Given the description of an element on the screen output the (x, y) to click on. 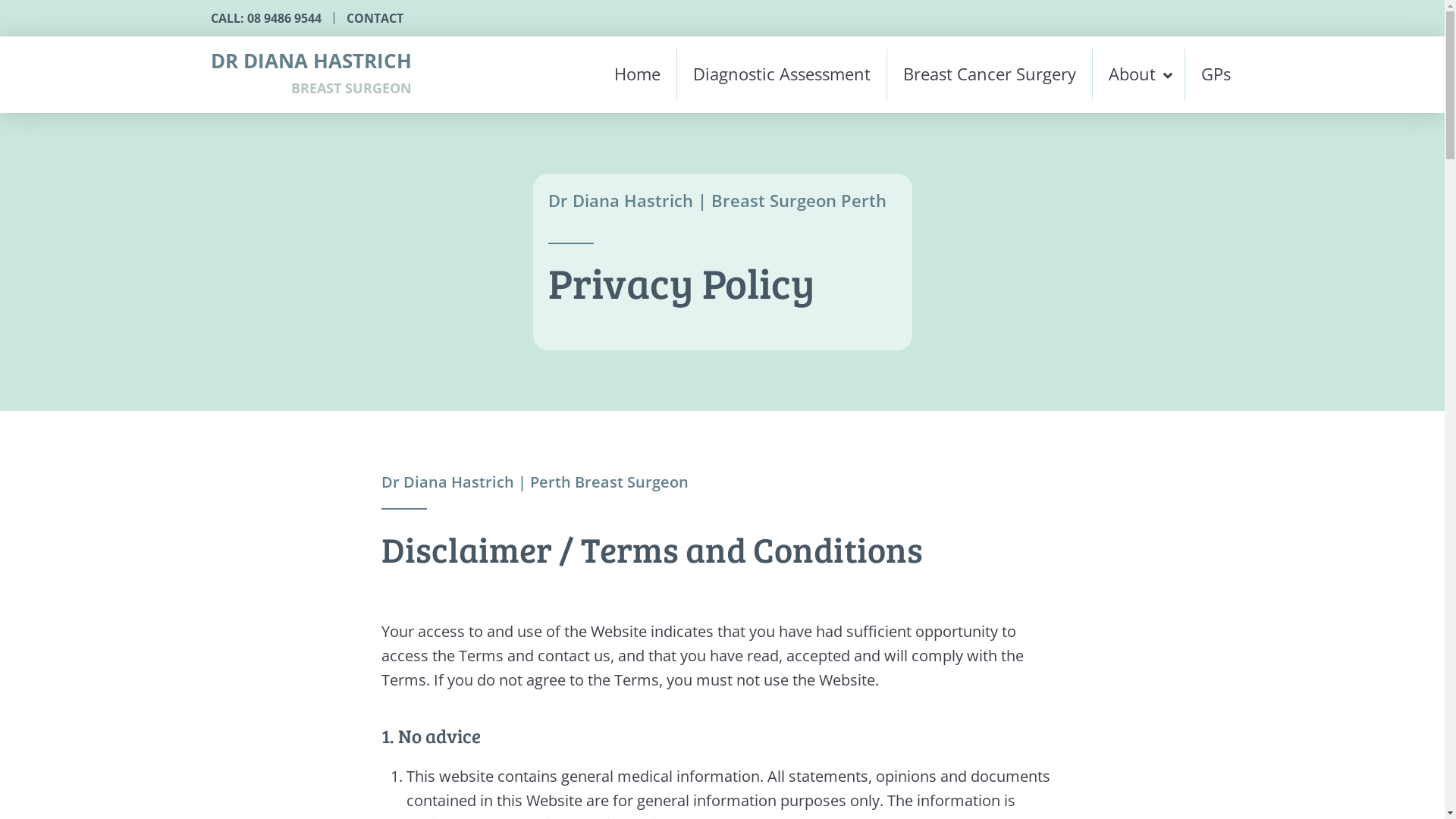
Diagnostic
Assessment Element type: text (781, 74)
About Element type: text (1138, 74)
GPs Element type: text (1208, 74)
Breast Cancer
Surgery Element type: text (989, 74)
DR DIANA HASTRICH Element type: text (310, 60)
BREAST SURGEON Element type: text (351, 87)
CONTACT Element type: text (368, 18)
Home Element type: text (636, 74)
CALL: 08 9486 9544 Element type: text (265, 18)
